Given the description of an element on the screen output the (x, y) to click on. 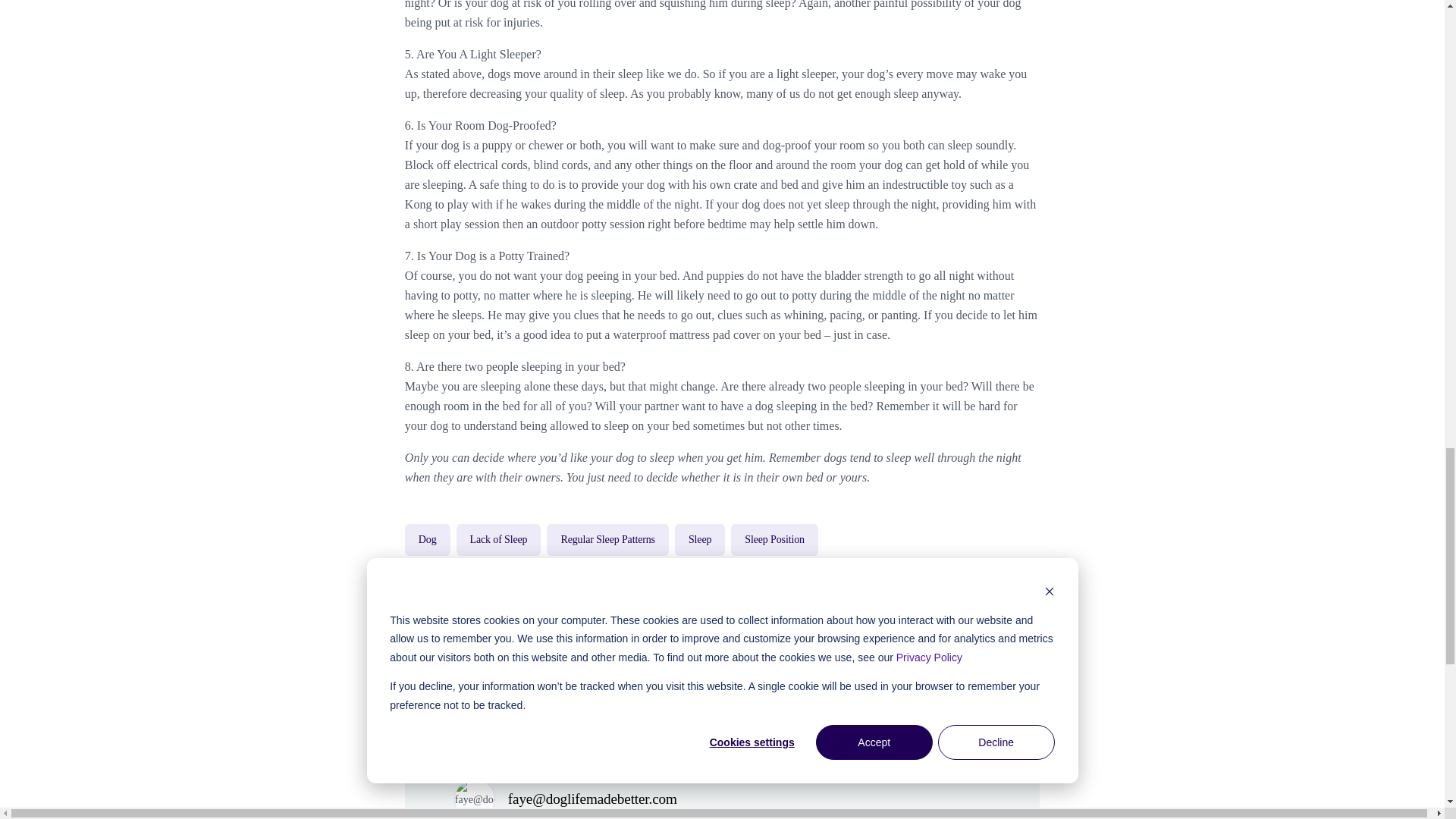
LinkedIn (1005, 660)
Twitter (965, 660)
Facebook (925, 660)
